Given the description of an element on the screen output the (x, y) to click on. 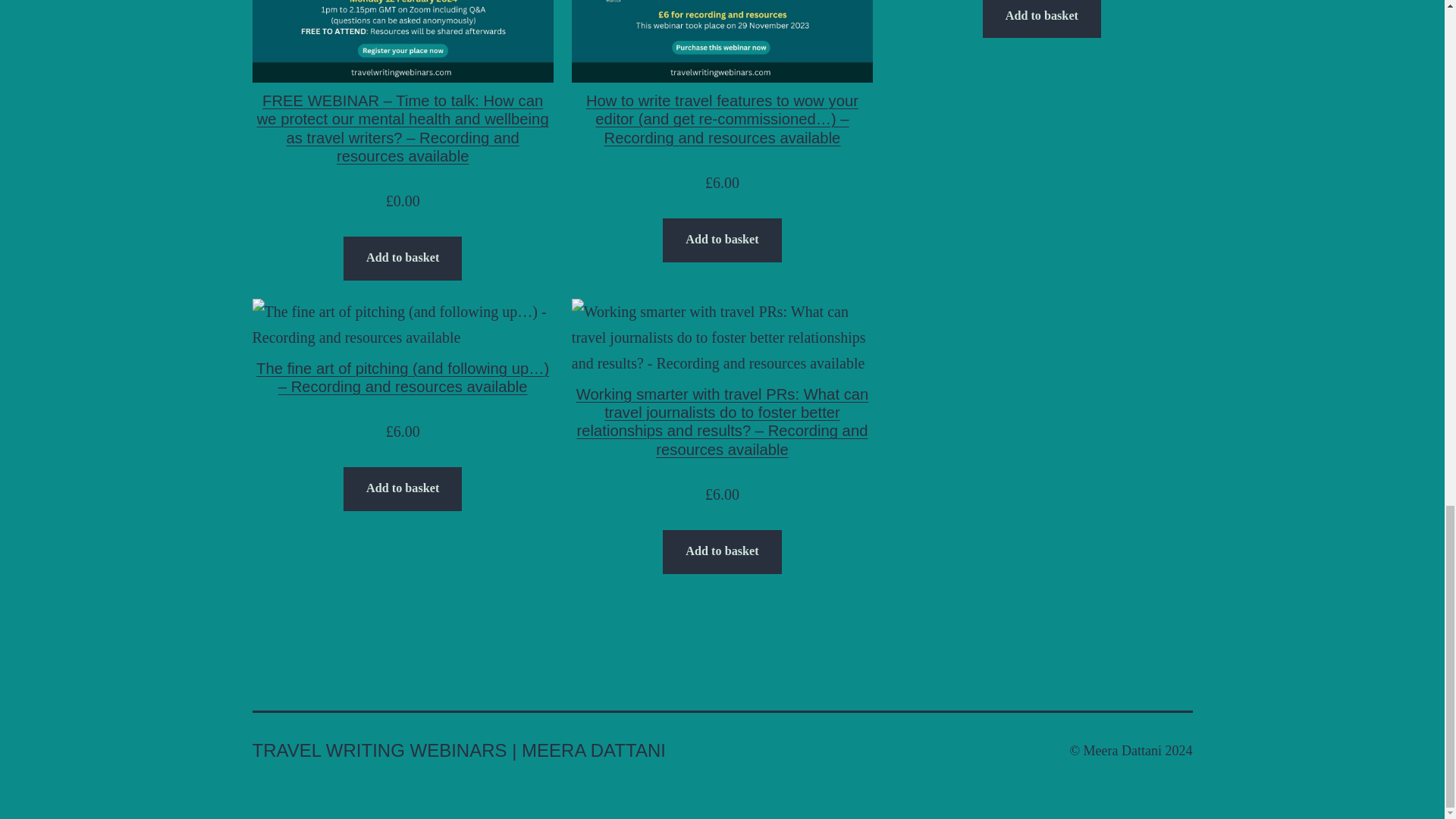
Add to basket (402, 258)
Add to basket (1041, 19)
Add to basket (721, 551)
Add to basket (402, 488)
Add to basket (721, 240)
